Given the description of an element on the screen output the (x, y) to click on. 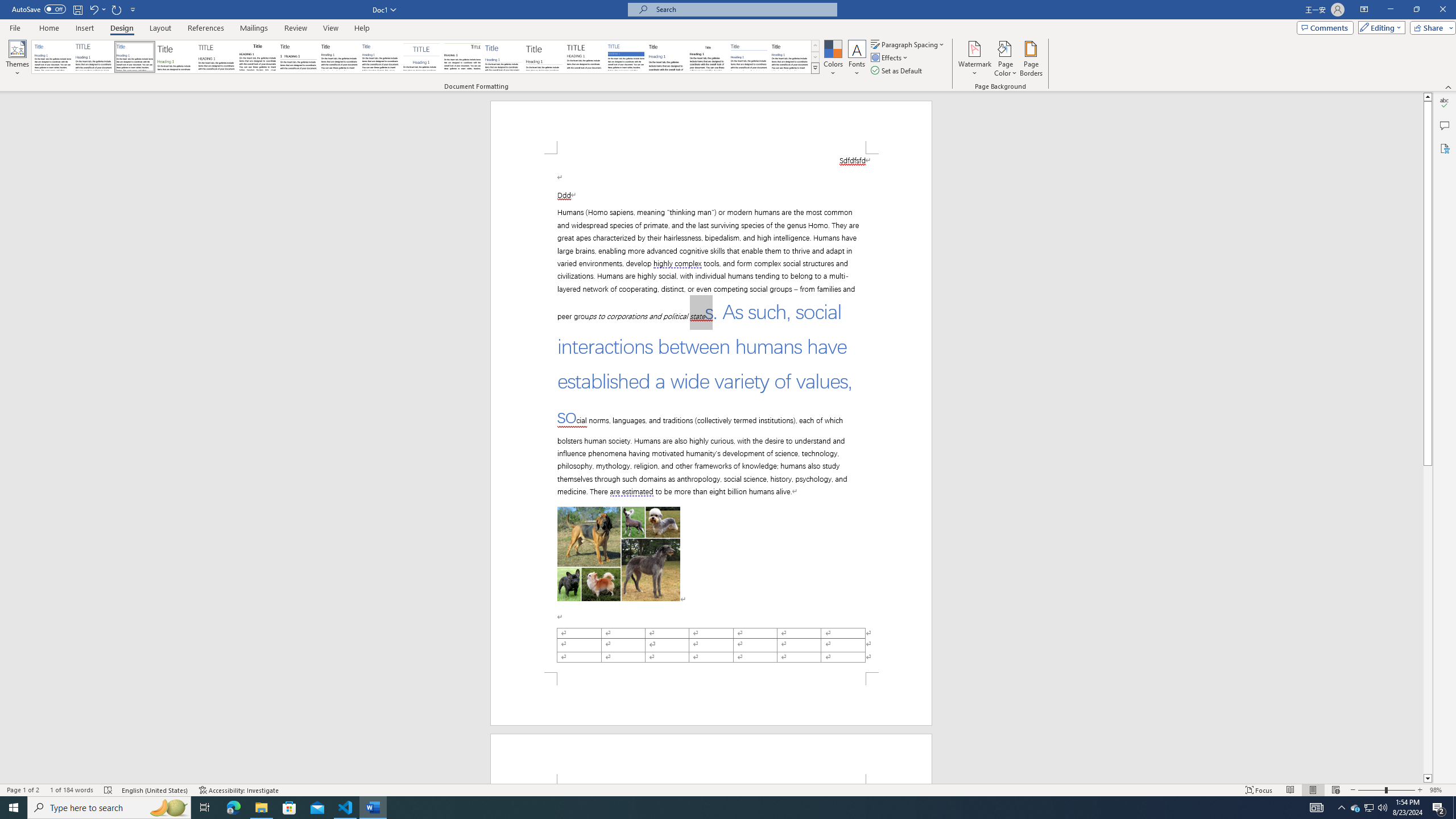
Set as Default (897, 69)
Lines (Stylish) (544, 56)
Spelling and Grammar Check Errors (108, 790)
Black & White (Capitalized) (216, 56)
Watermark (974, 58)
